Given the description of an element on the screen output the (x, y) to click on. 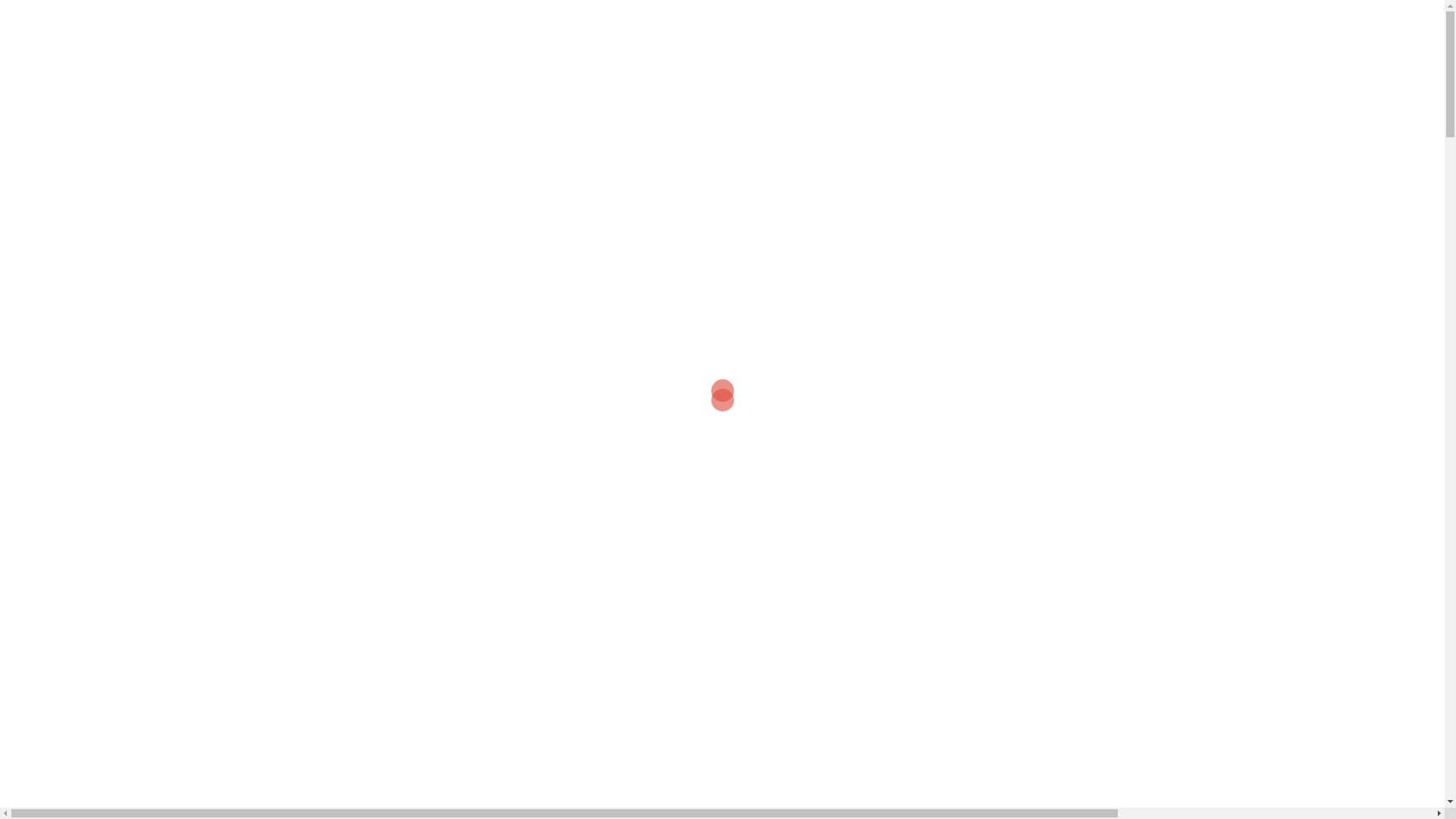
Unser Verein Element type: text (799, 21)
Sponsoren Element type: text (895, 21)
Home Element type: text (675, 21)
Links Element type: text (1096, 21)
Impressionen Element type: text (973, 21)
Search Element type: text (1148, 21)
Agenda Element type: text (728, 21)
Read more Element type: text (339, 616)
Kontakt Element type: text (1044, 21)
